Given the description of an element on the screen output the (x, y) to click on. 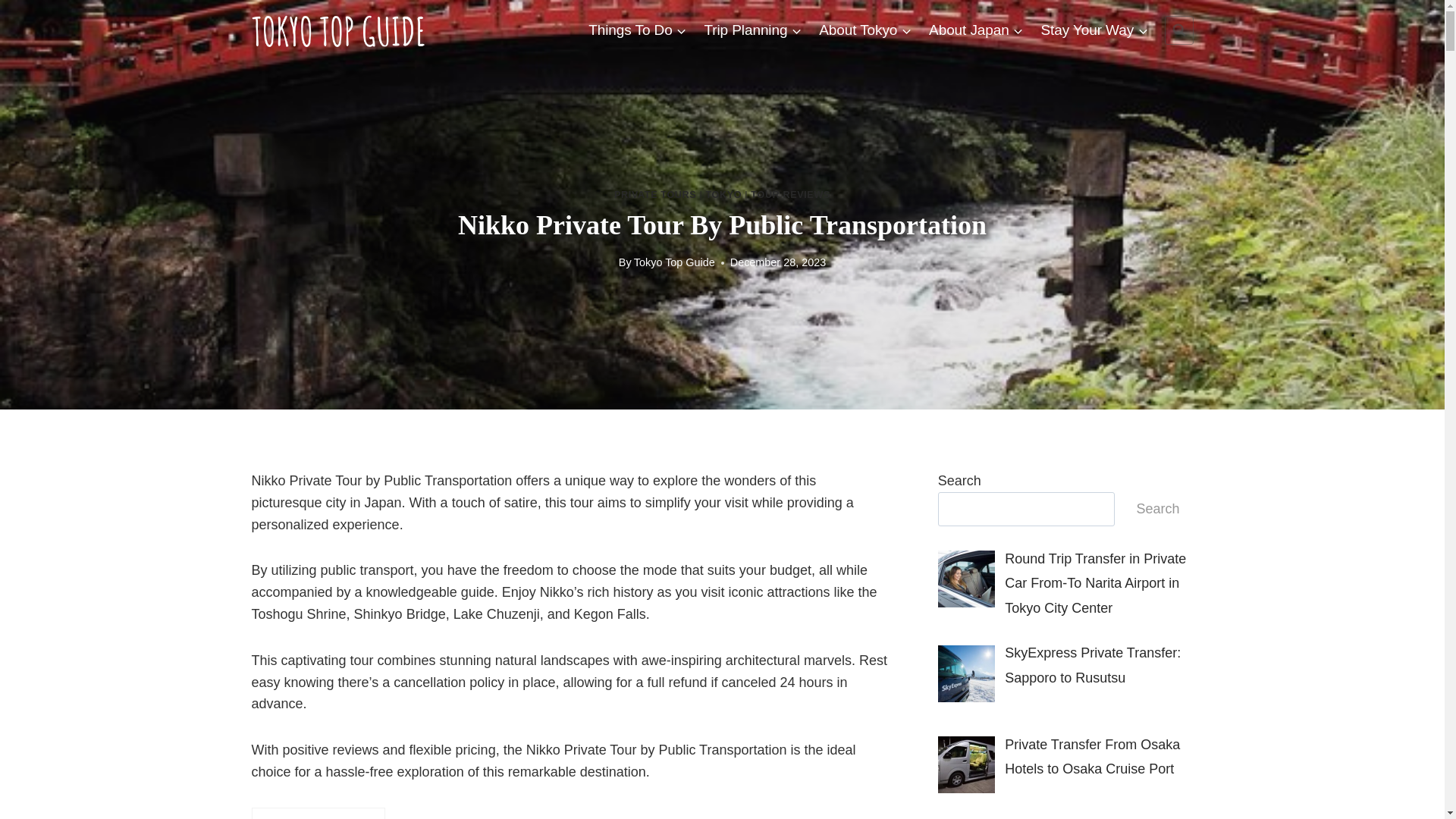
Things To Do (637, 29)
PRIVATE TOURS (654, 194)
Trip Planning (752, 29)
Stay Your Way (1094, 29)
TOKYO (722, 194)
TOUR REVIEWS (790, 194)
Tokyo Top Guide (673, 262)
About Japan (976, 29)
About Tokyo (865, 29)
